Given the description of an element on the screen output the (x, y) to click on. 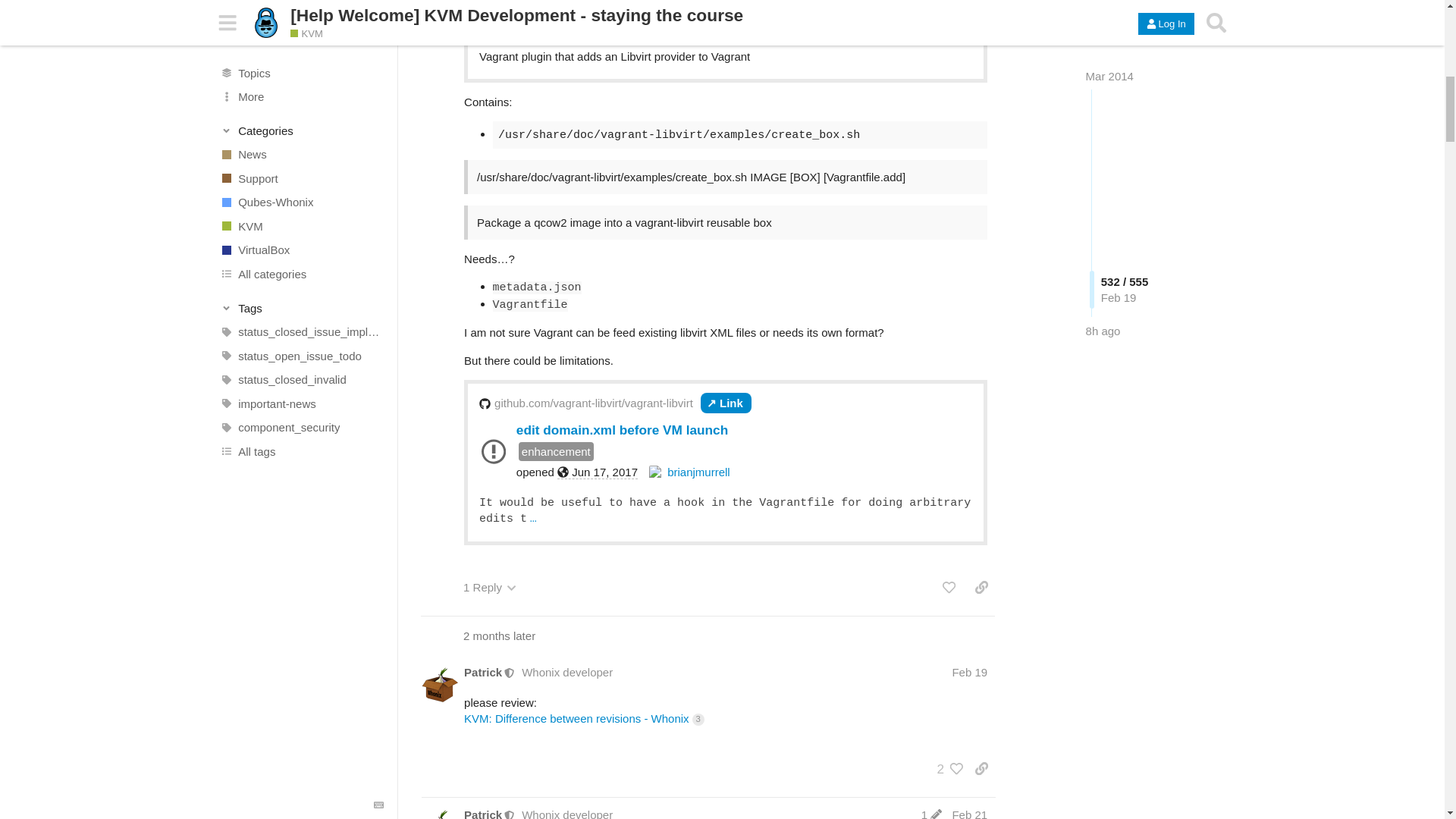
Keyboard Shortcuts (378, 13)
